Given the description of an element on the screen output the (x, y) to click on. 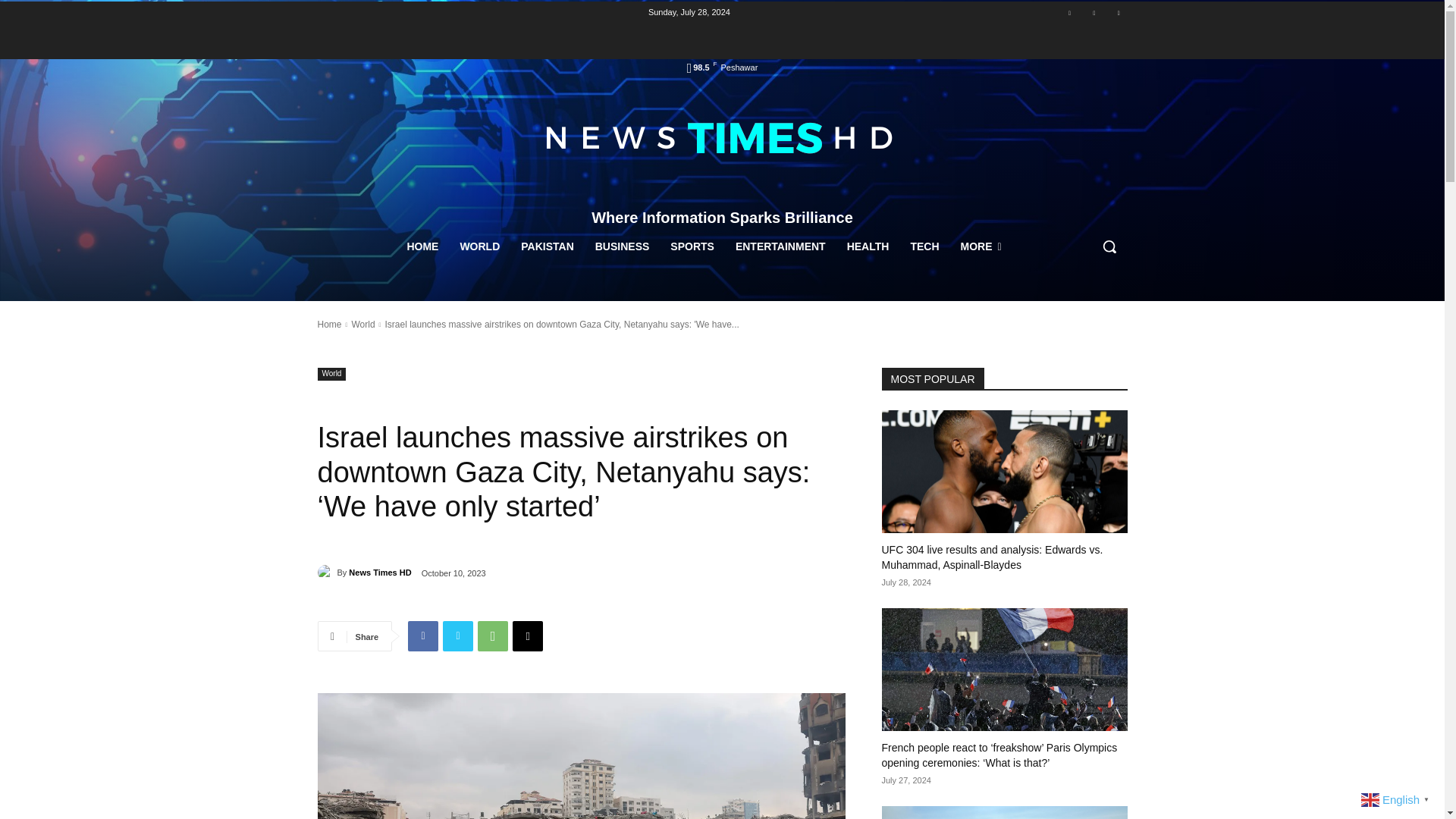
ENTERTAINMENT (780, 246)
PAKISTAN (547, 246)
Facebook (422, 635)
HOME (422, 246)
News Times HD (326, 572)
Instagram (1094, 13)
Twitter (1117, 13)
Facebook (1069, 13)
TECH (924, 246)
Twitter (457, 635)
MORE (980, 246)
SPORTS (692, 246)
BUSINESS (623, 246)
WORLD (479, 246)
HEALTH (867, 246)
